Given the description of an element on the screen output the (x, y) to click on. 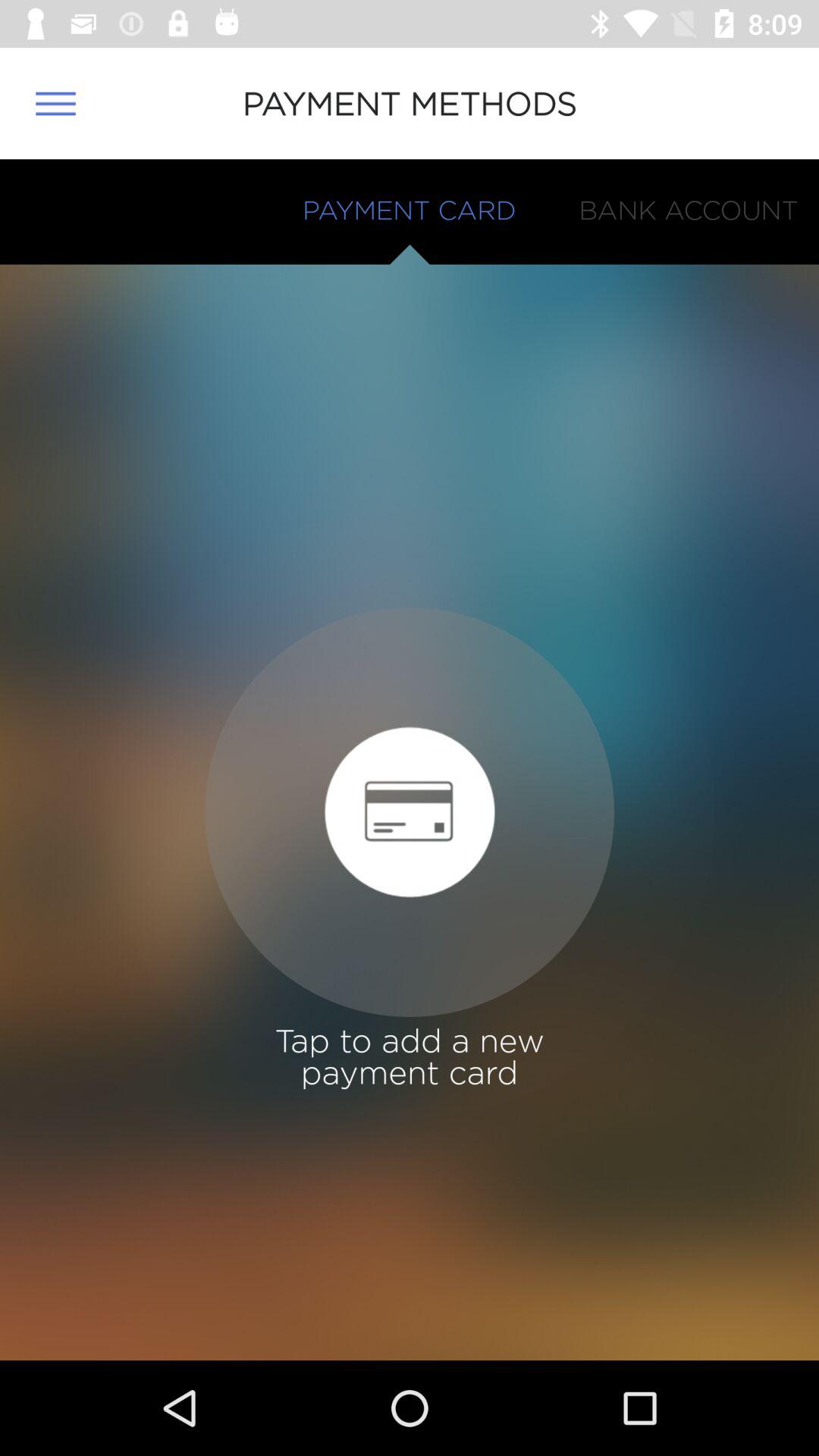
turn on the icon at the top left corner (55, 103)
